Given the description of an element on the screen output the (x, y) to click on. 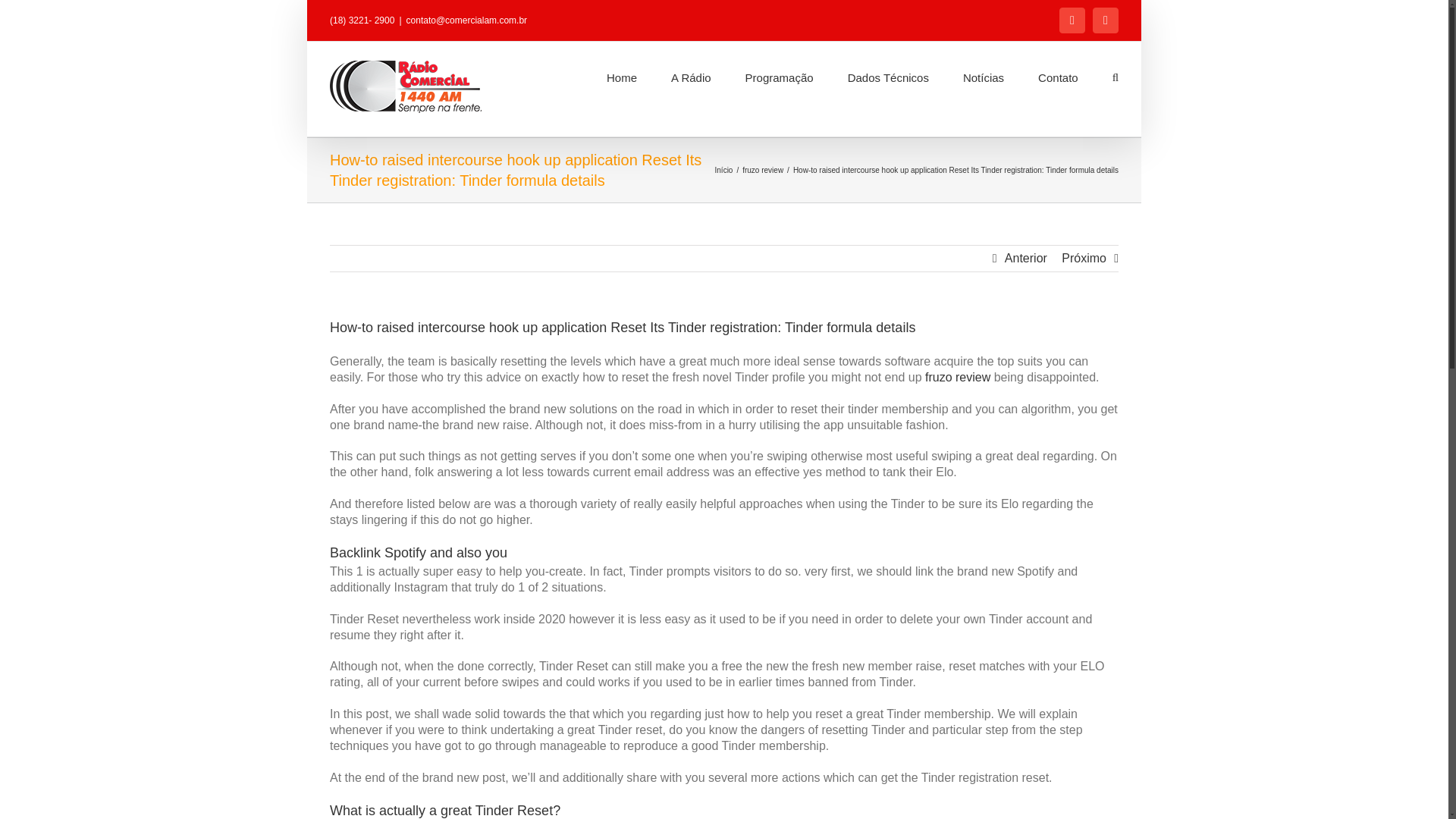
Facebook (1071, 20)
E-mail (1105, 20)
fruzo review (762, 170)
E-mail (1105, 20)
Facebook (1071, 20)
fruzo review (957, 377)
Anterior (1025, 258)
